Given the description of an element on the screen output the (x, y) to click on. 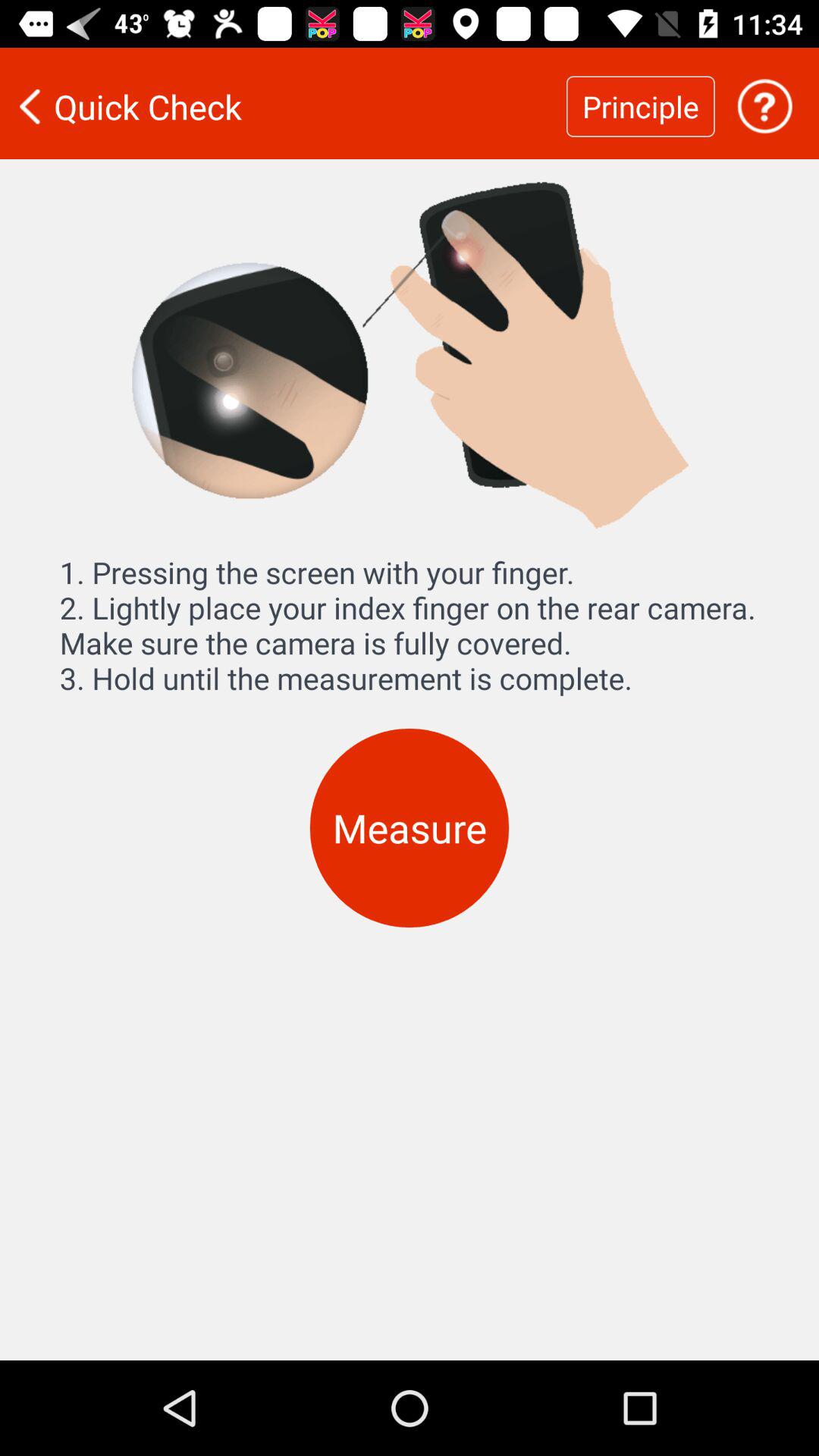
click icon to the right of quick check icon (640, 106)
